Given the description of an element on the screen output the (x, y) to click on. 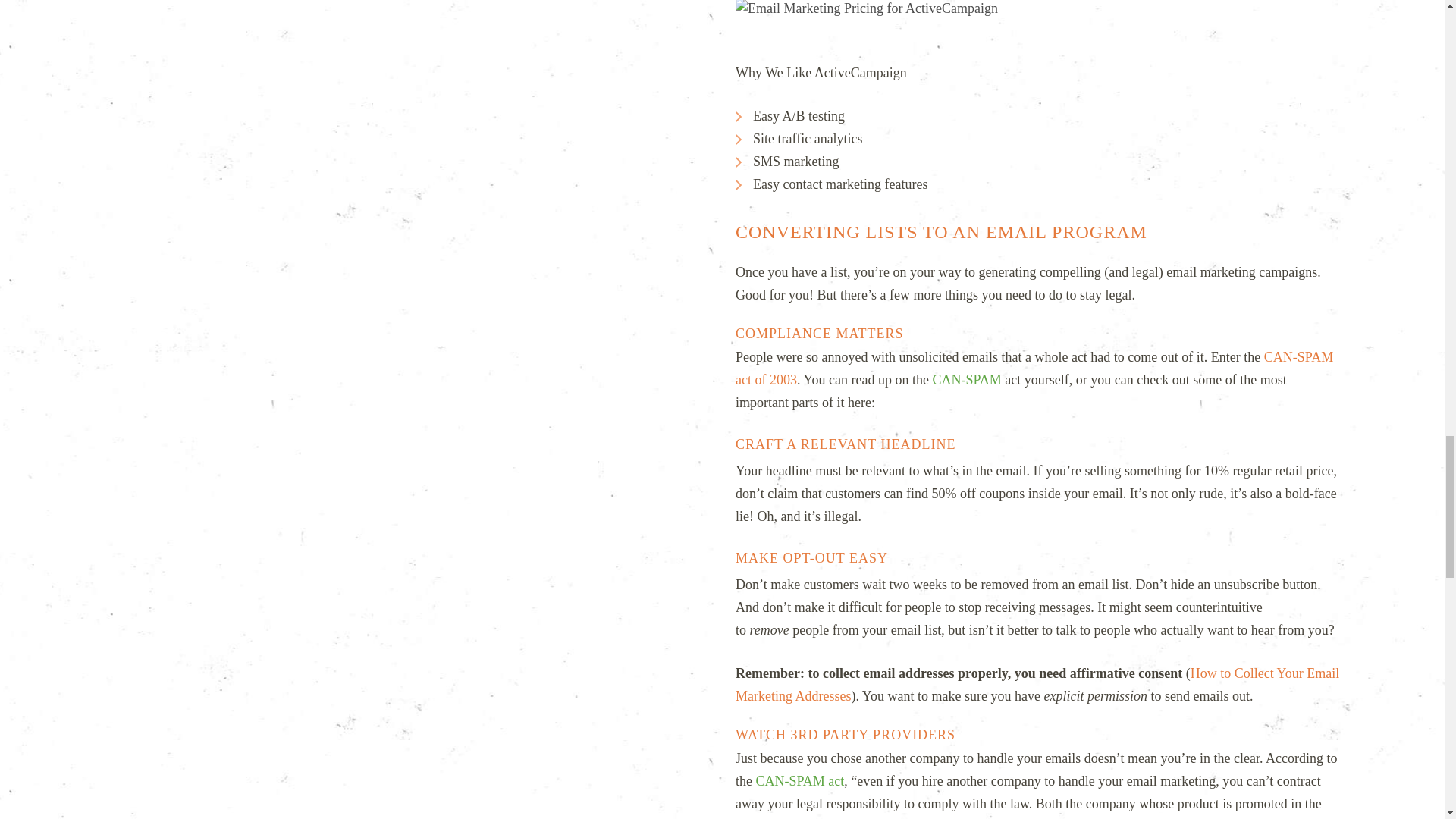
CAN-SPAM act (799, 780)
How to Collect Your Email Marketing Addresses (1037, 684)
CAN-SPAM act of 2003 (1034, 368)
CAN-SPAM (966, 379)
